Given the description of an element on the screen output the (x, y) to click on. 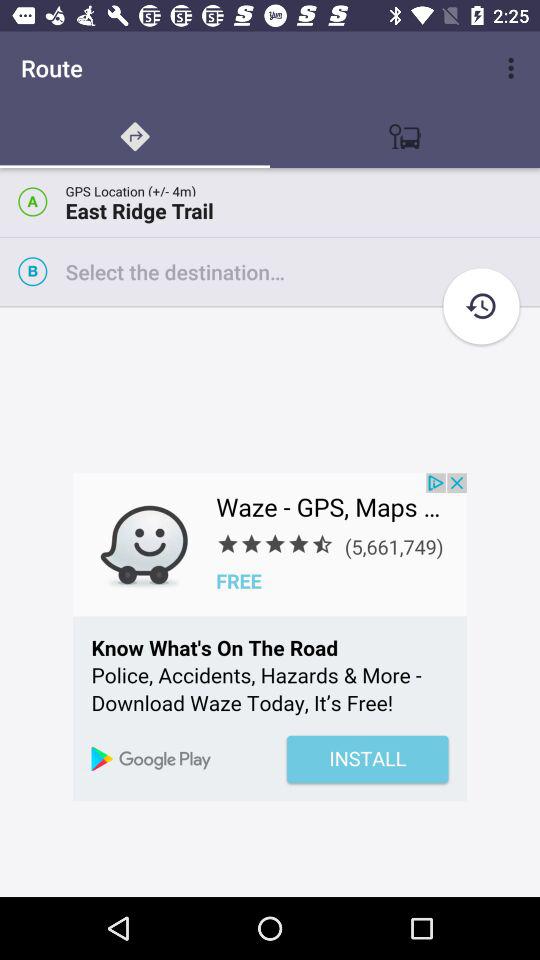
enter destination (302, 271)
